Given the description of an element on the screen output the (x, y) to click on. 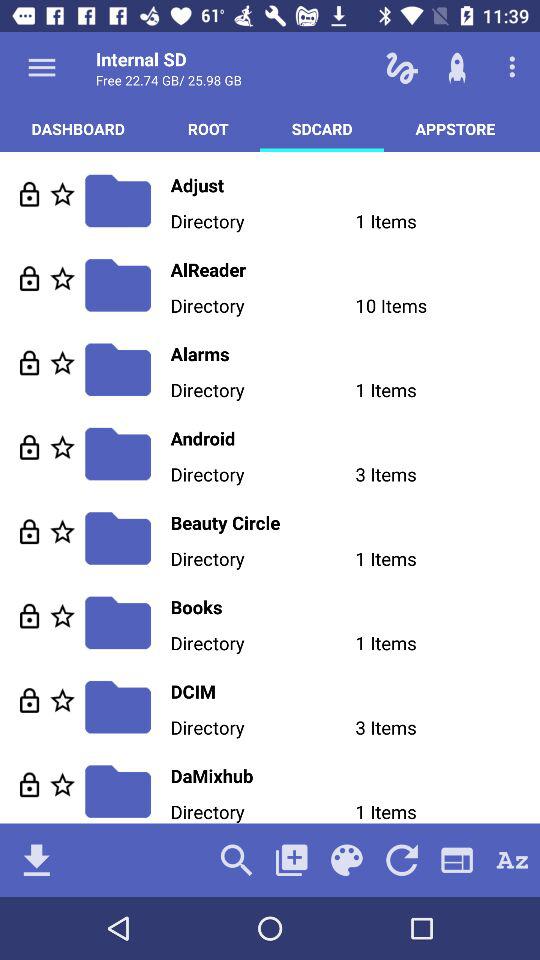
click the item next to the sdcard (208, 128)
